Given the description of an element on the screen output the (x, y) to click on. 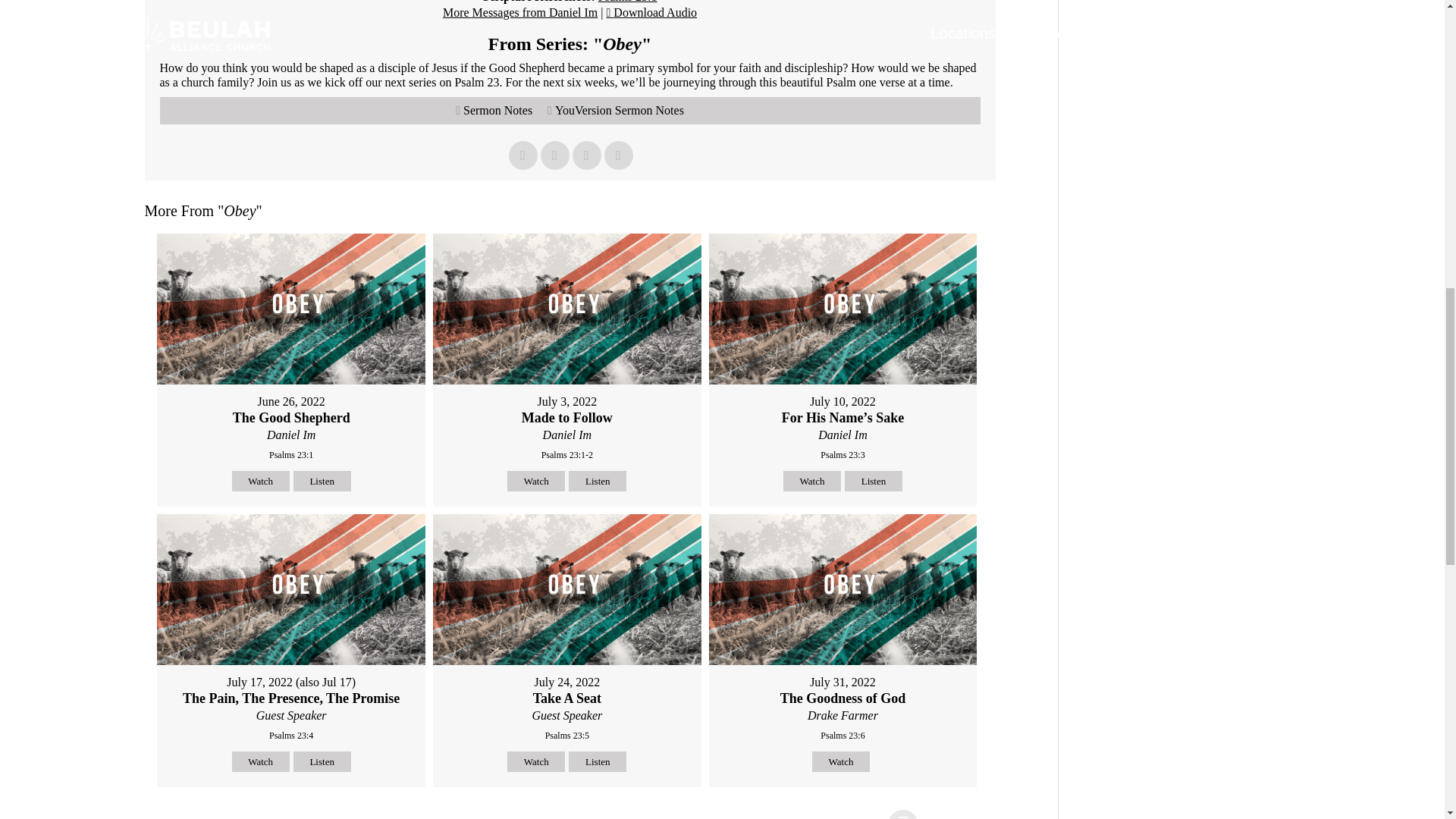
Watch (535, 480)
Listen (873, 480)
Watch (535, 761)
Listen (597, 480)
Listen (322, 761)
YouVersion Sermon Notes (615, 110)
Powered by Series Engine (939, 814)
Watch (260, 480)
Download Audio (652, 11)
More Messages from Daniel Im (519, 11)
Listen (597, 761)
Psalms 23:1 (628, 1)
Watch (812, 480)
Watch (840, 761)
